Given the description of an element on the screen output the (x, y) to click on. 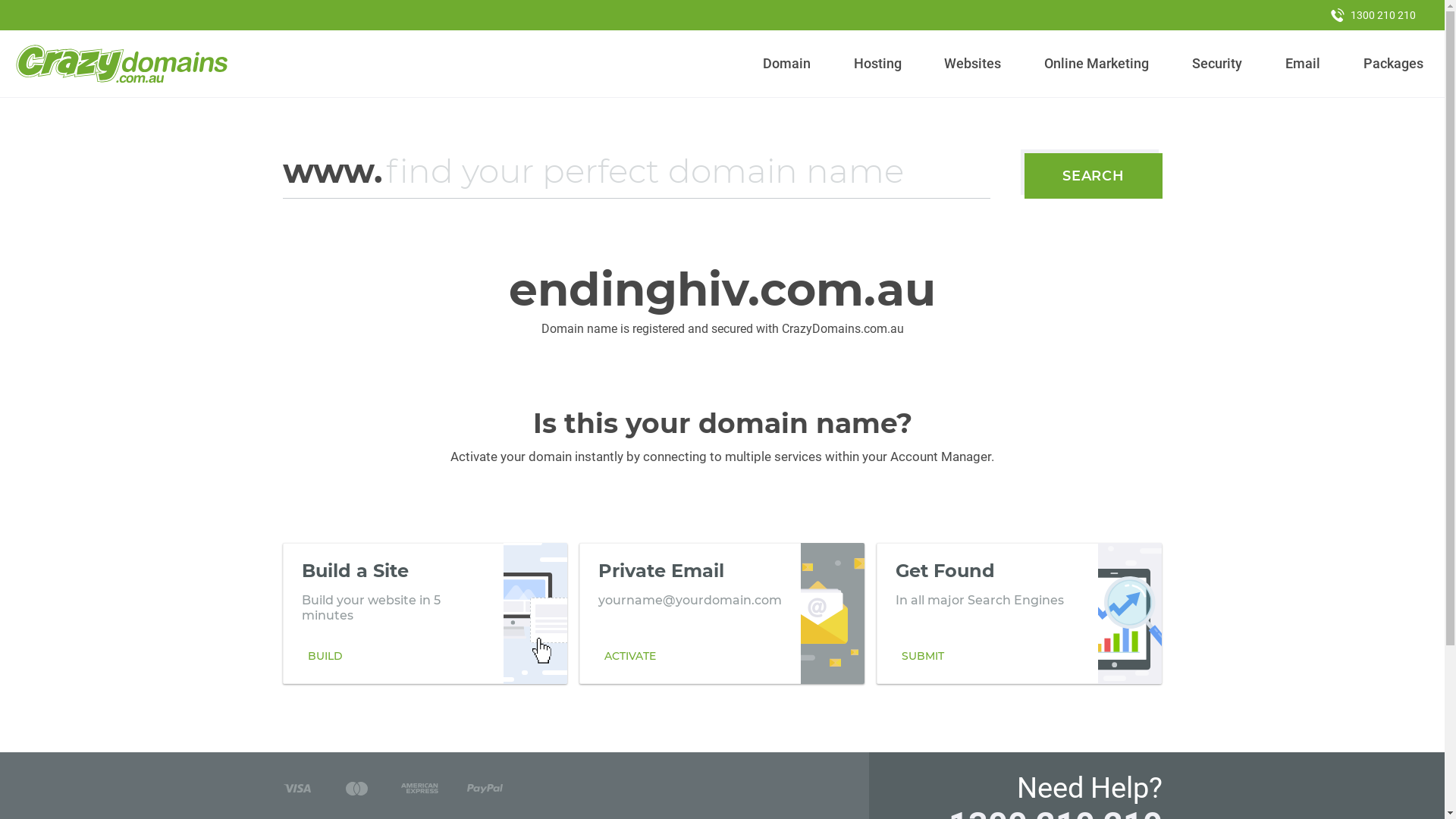
Build a Site
Build your website in 5 minutes
BUILD Element type: text (424, 613)
Websites Element type: text (972, 63)
SEARCH Element type: text (1092, 175)
1300 210 210 Element type: text (1373, 15)
Get Found
In all major Search Engines
SUBMIT Element type: text (1018, 613)
Domain Element type: text (786, 63)
Packages Element type: text (1392, 63)
Private Email
yourname@yourdomain.com
ACTIVATE Element type: text (721, 613)
Security Element type: text (1217, 63)
Hosting Element type: text (877, 63)
Email Element type: text (1302, 63)
Online Marketing Element type: text (1096, 63)
